Given the description of an element on the screen output the (x, y) to click on. 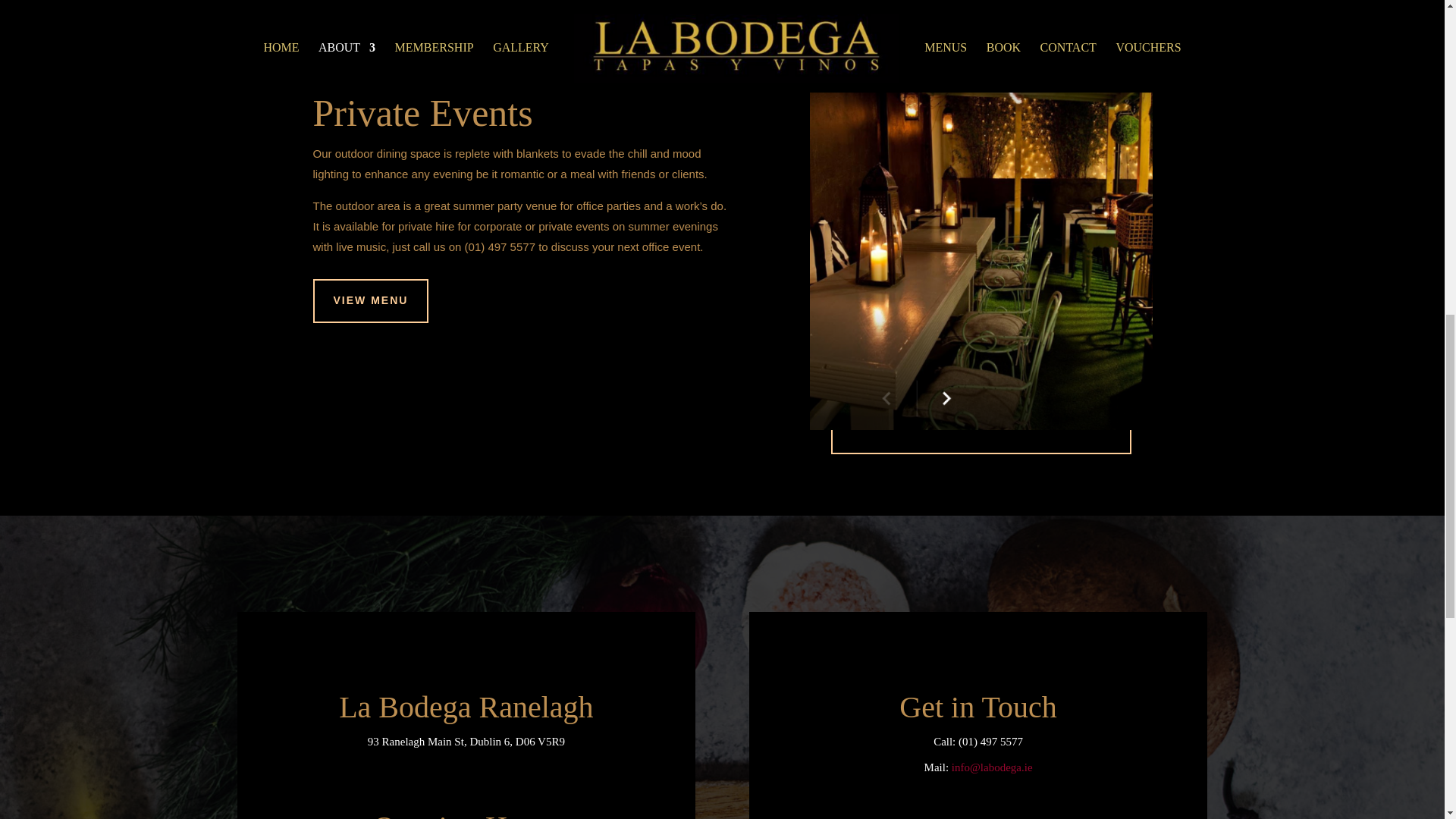
VIEW MENU (370, 300)
